Given the description of an element on the screen output the (x, y) to click on. 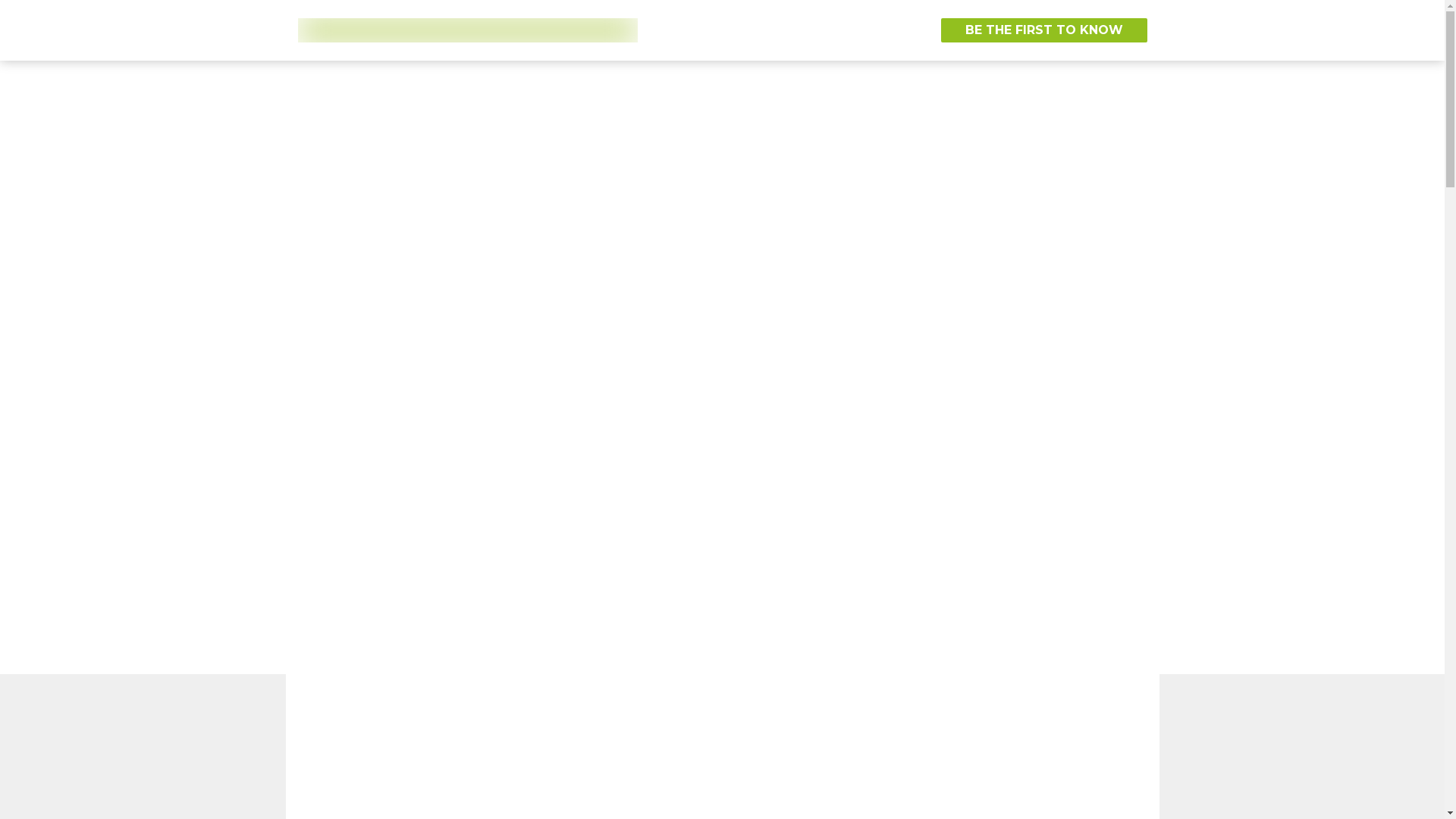
BE THE FIRST TO KNOW Element type: text (1043, 30)
